Given the description of an element on the screen output the (x, y) to click on. 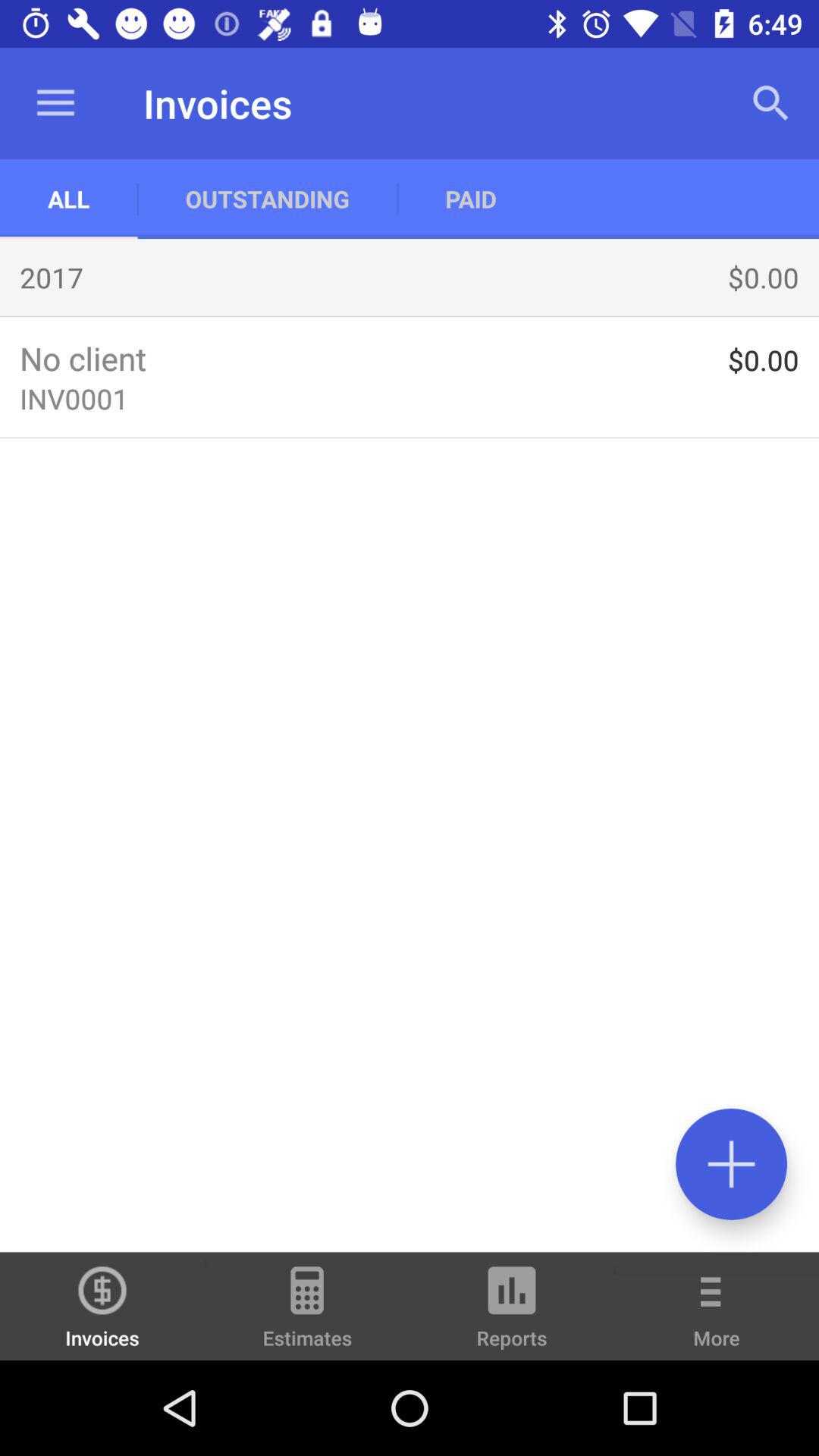
click the app to the right of the paid app (771, 103)
